Given the description of an element on the screen output the (x, y) to click on. 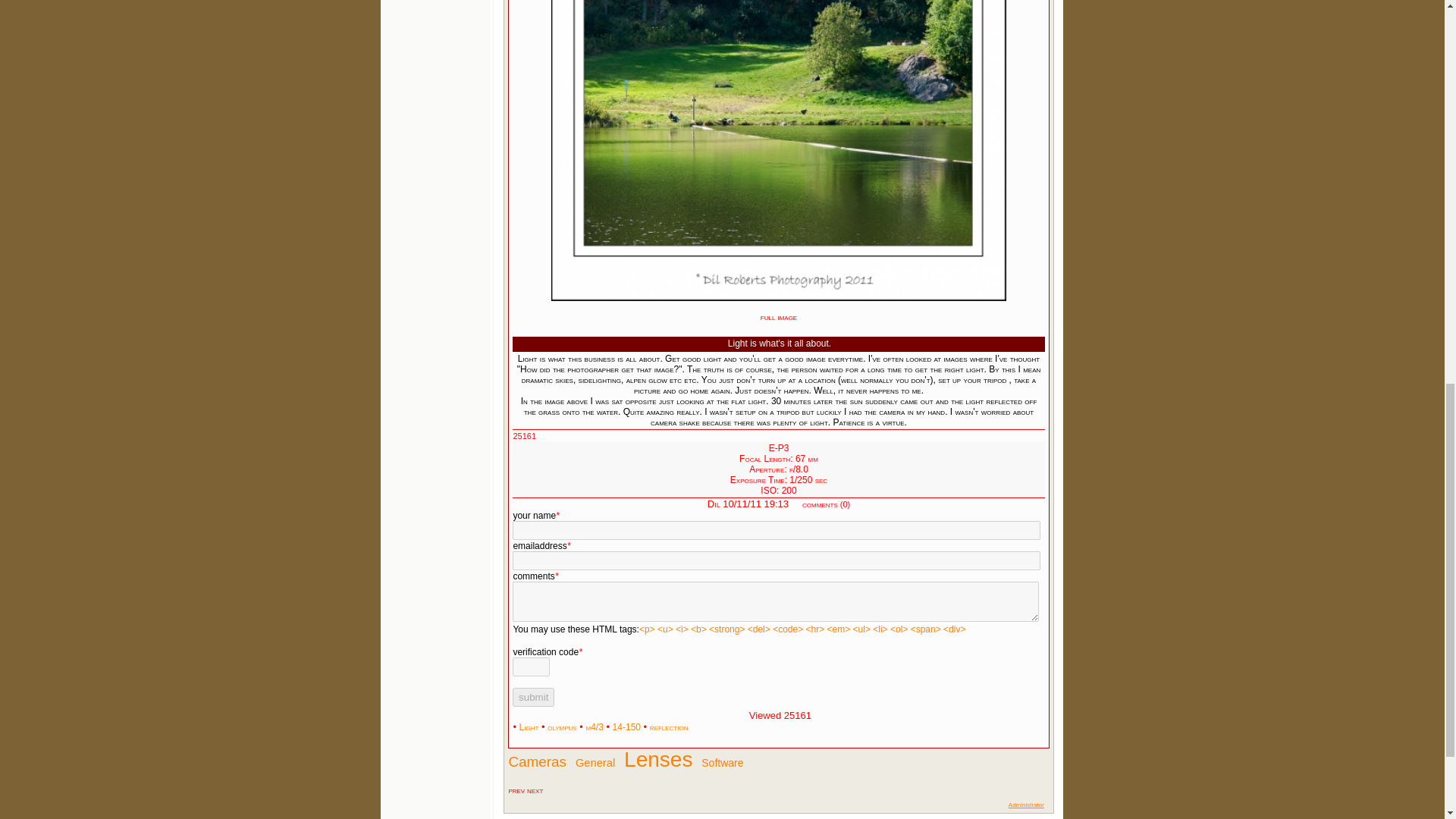
 submit  (533, 696)
